Given the description of an element on the screen output the (x, y) to click on. 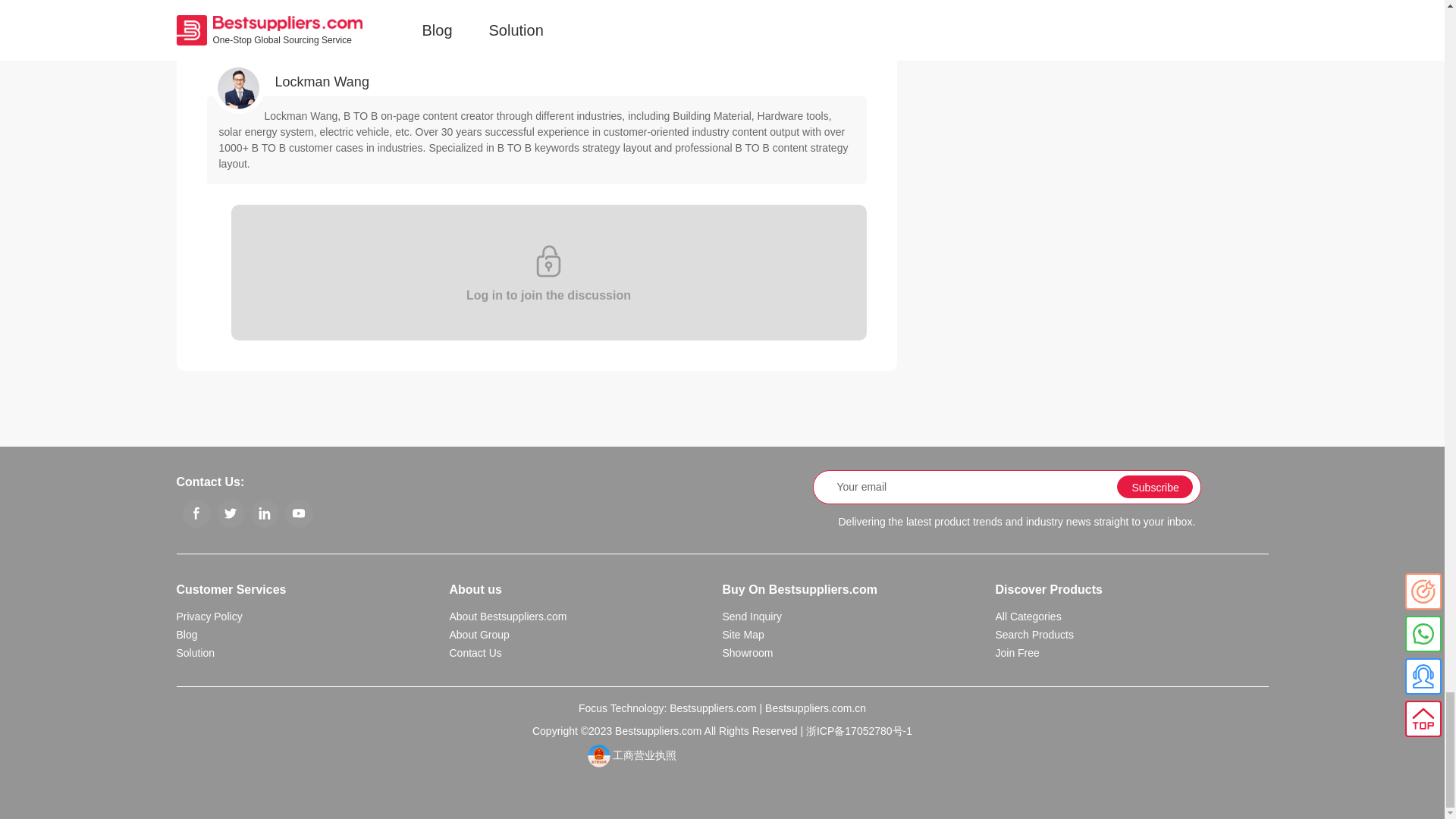
Showroom (747, 653)
Contact Us (474, 653)
Site Map (742, 634)
Bestsuppliers.com (712, 707)
Join Free (1016, 653)
Privacy Policy (208, 616)
About Group (478, 634)
All Categories (1027, 616)
Log in to join the discussion (536, 272)
Lockman Wang (321, 81)
